Given the description of an element on the screen output the (x, y) to click on. 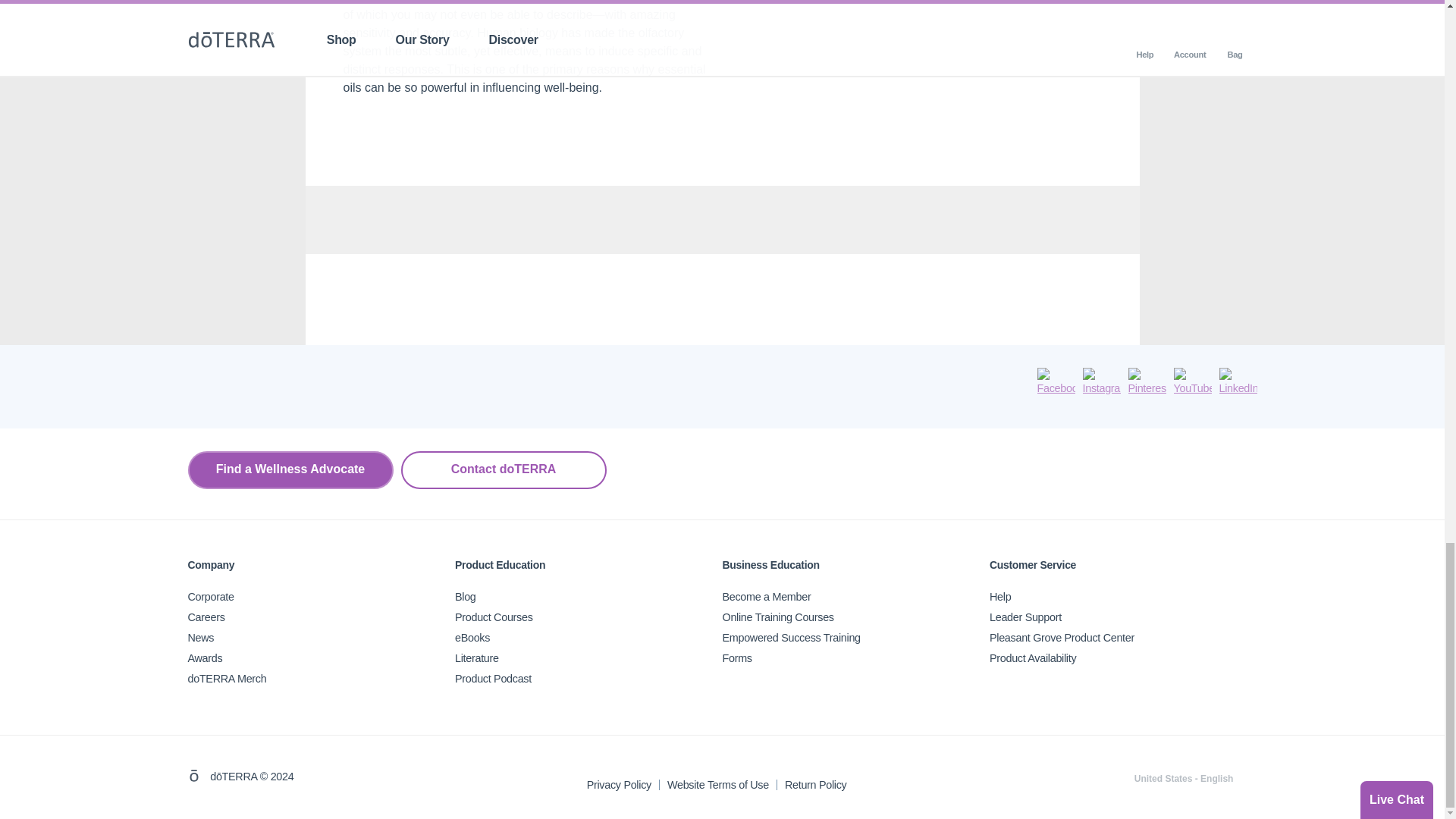
Pinterest (1147, 382)
YouTube (1192, 382)
Instagram (1102, 382)
LinkedIn (1238, 382)
Facebook (1055, 382)
